Given the description of an element on the screen output the (x, y) to click on. 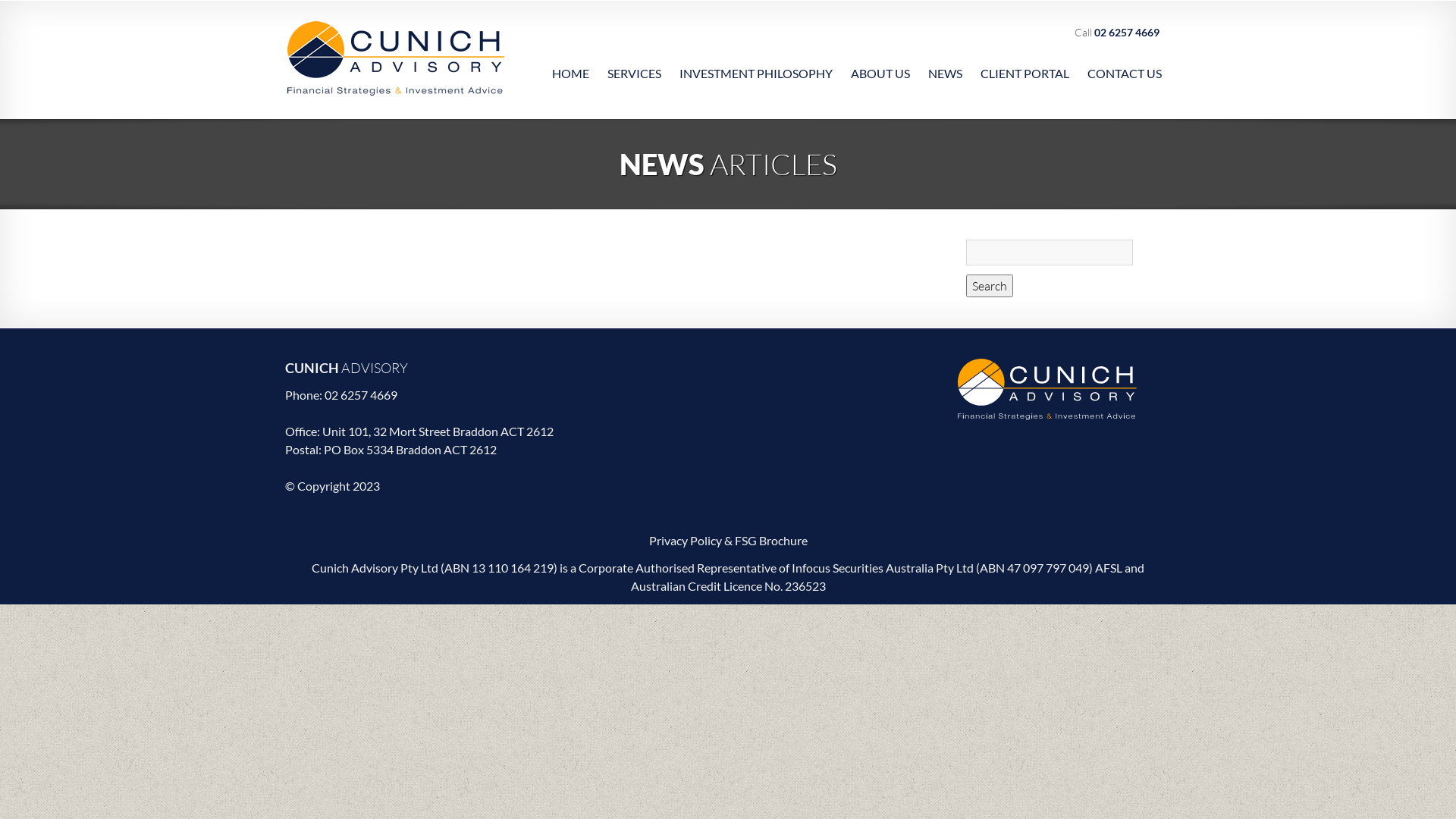
HOME Element type: text (570, 62)
02 6257 4669 Element type: text (360, 394)
CONTACT US Element type: text (1124, 62)
Search Element type: text (989, 285)
NEWS Element type: text (945, 62)
Privacy Policy & FSG Brochure Element type: text (728, 540)
02 6257 4669 Element type: text (1126, 31)
CLIENT PORTAL Element type: text (1024, 62)
SERVICES Element type: text (634, 62)
INVESTMENT PHILOSOPHY Element type: text (755, 62)
ABOUT US Element type: text (880, 62)
